Given the description of an element on the screen output the (x, y) to click on. 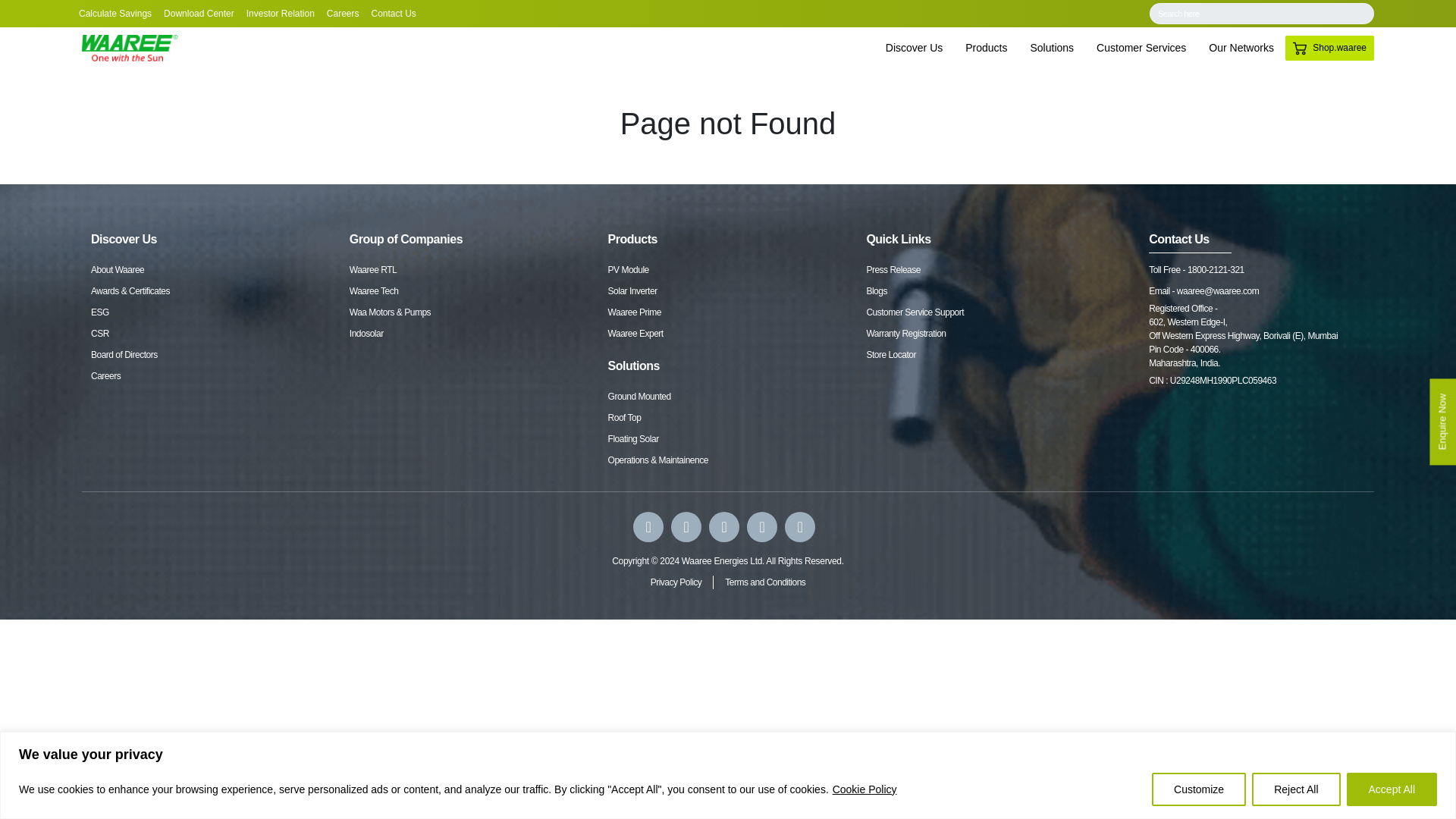
Calculate Savings (114, 13)
Contact Us (393, 13)
Solutions (1052, 47)
Careers (342, 13)
Investor Relation (280, 13)
Products (985, 47)
Download Center (198, 13)
Discover Us (914, 47)
